Given the description of an element on the screen output the (x, y) to click on. 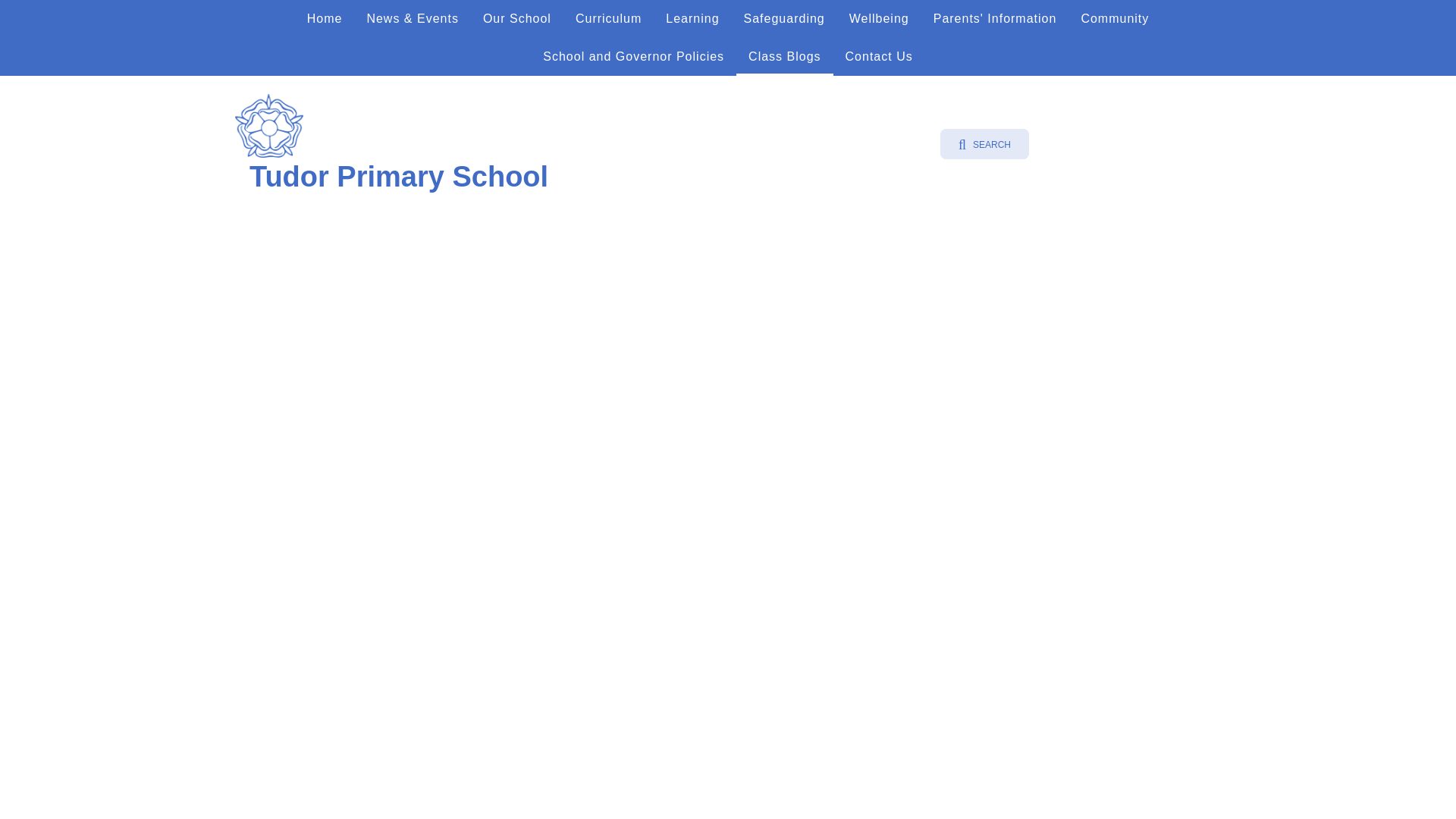
Home (325, 18)
Our School (516, 18)
